Given the description of an element on the screen output the (x, y) to click on. 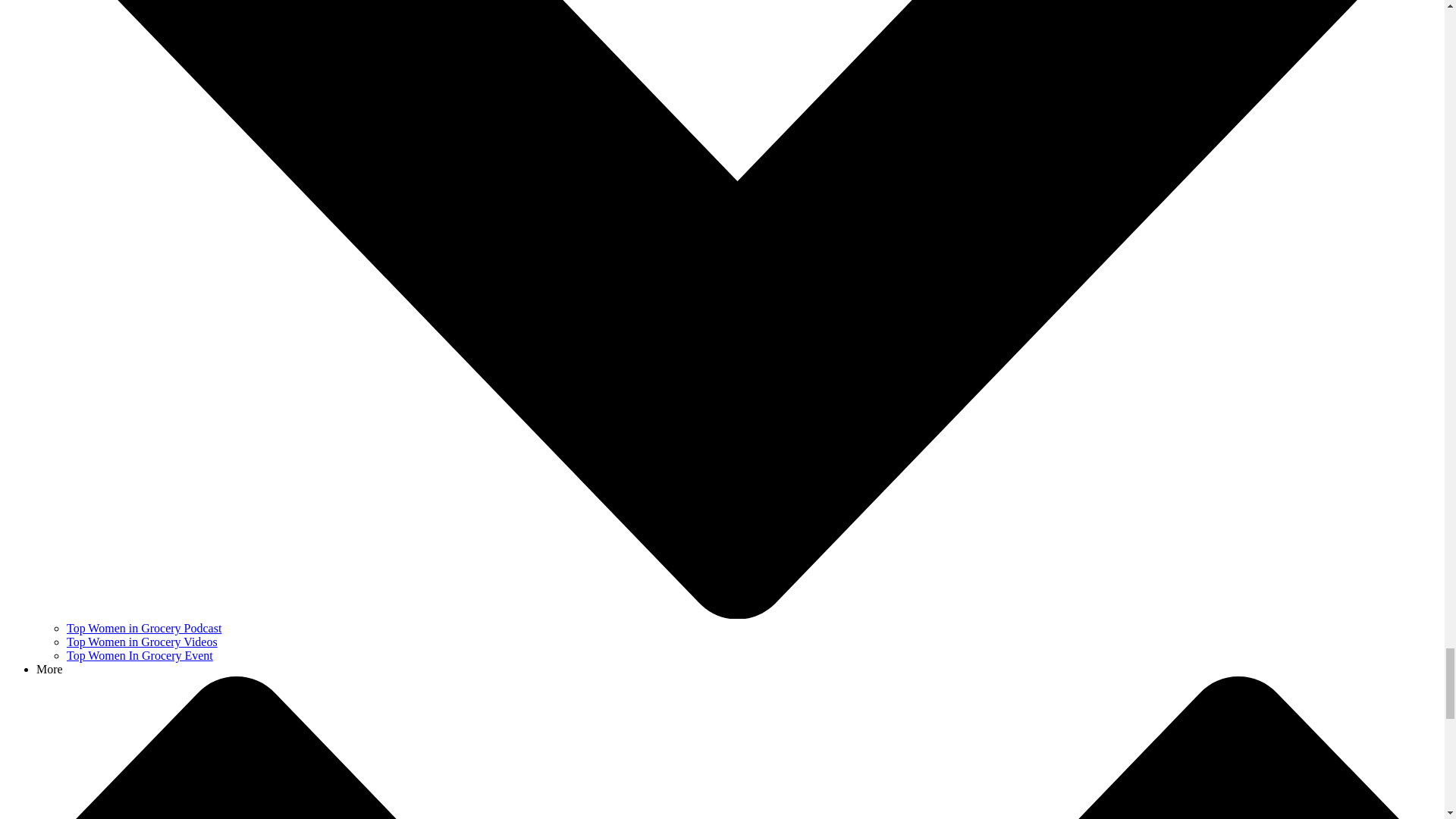
Top Women in Grocery Podcast (143, 627)
Top Women in Grocery Videos (141, 641)
Top Women In Grocery Event (139, 655)
More (49, 668)
